Given the description of an element on the screen output the (x, y) to click on. 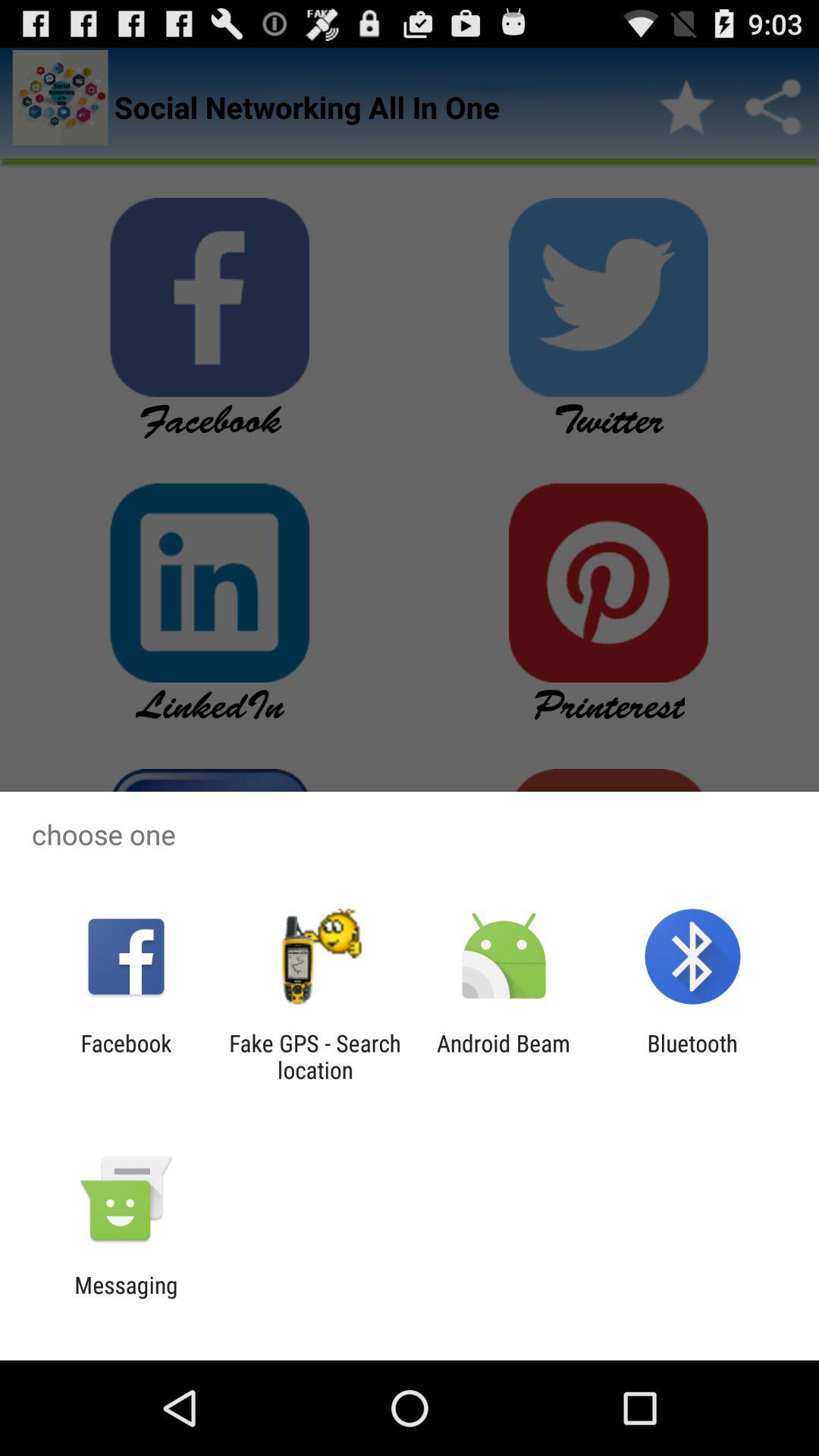
choose the app next to the fake gps search (125, 1056)
